Given the description of an element on the screen output the (x, y) to click on. 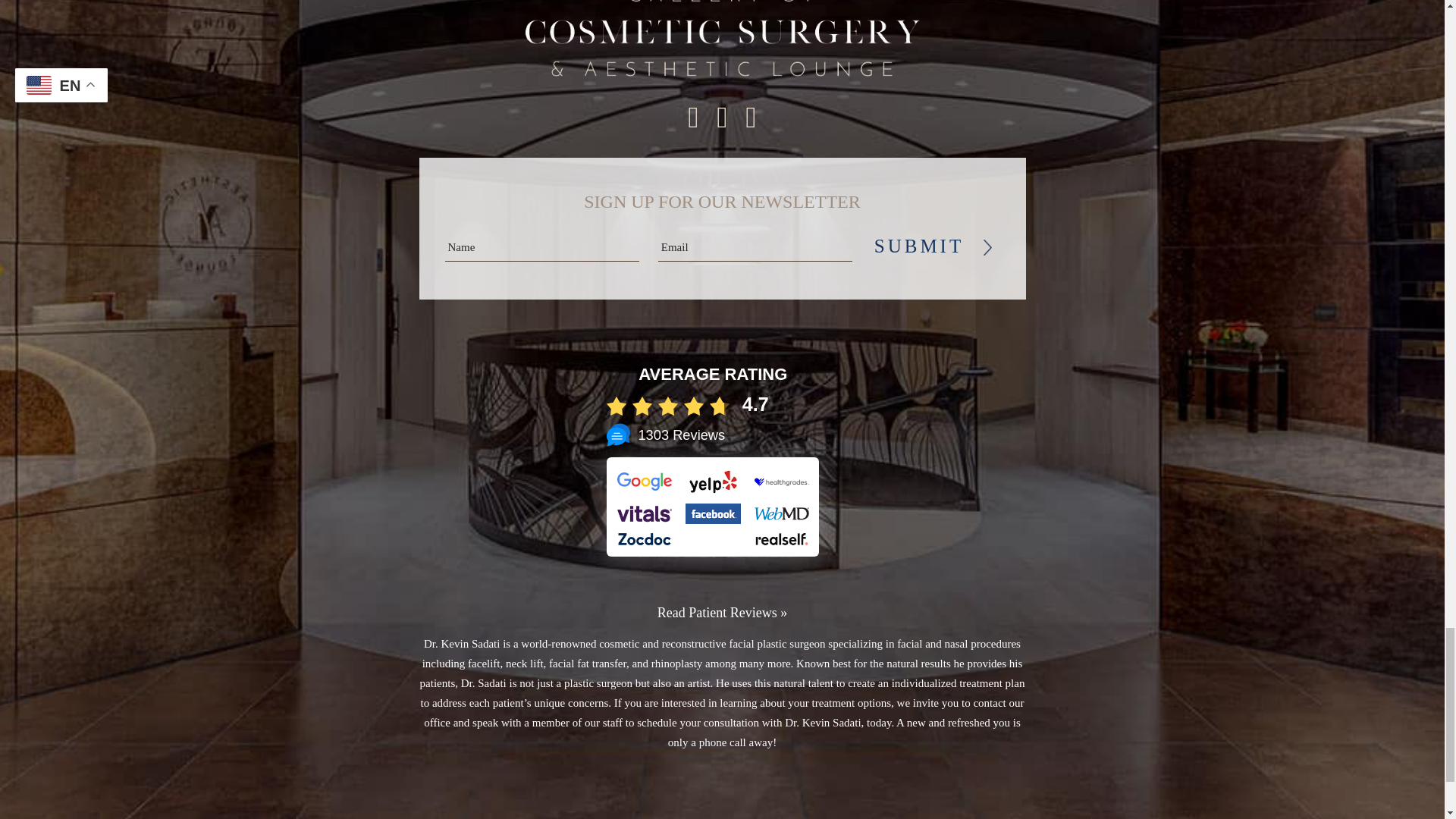
Submit (921, 245)
